Given the description of an element on the screen output the (x, y) to click on. 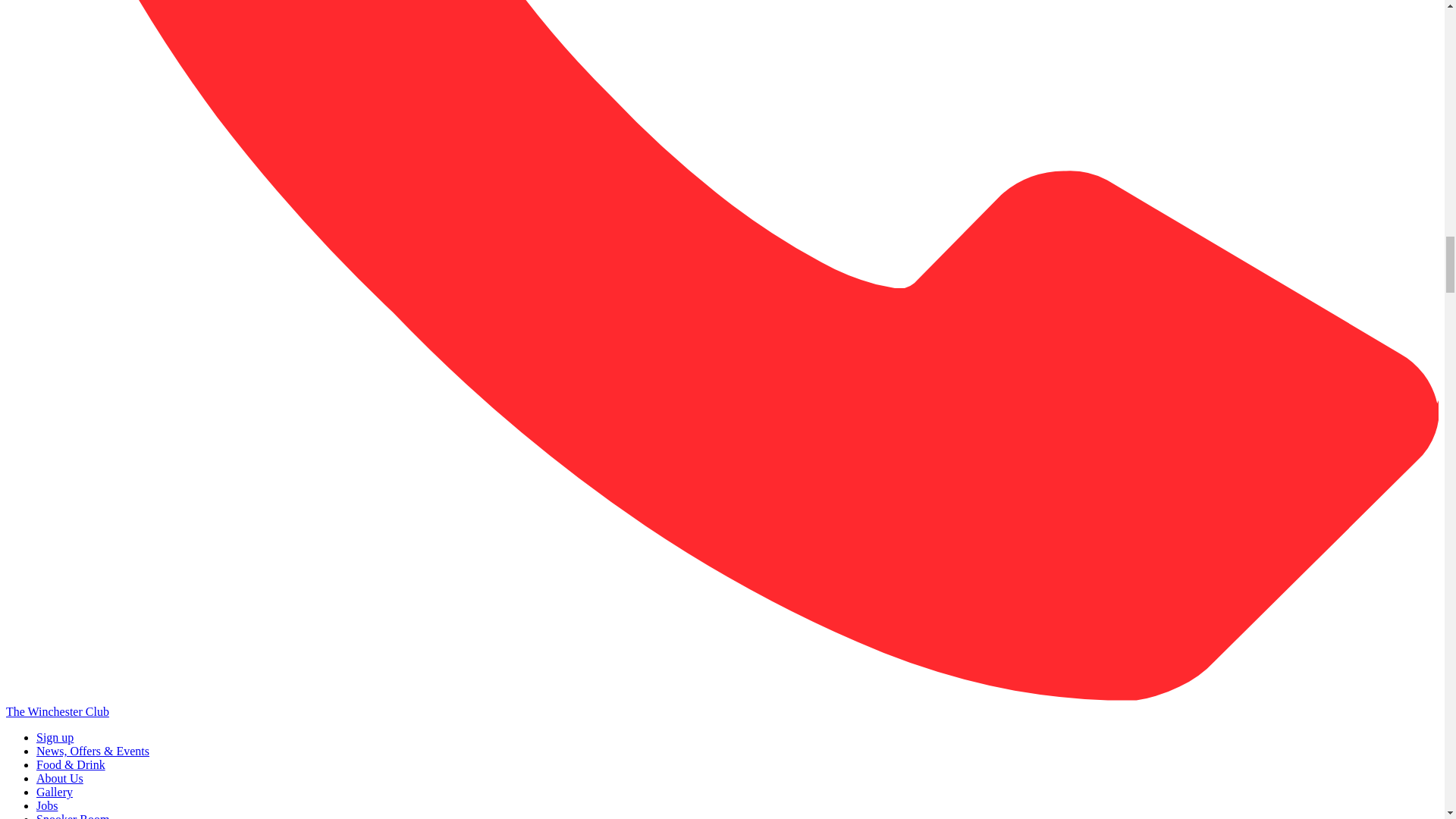
Jobs (47, 805)
The Winchester Club (57, 711)
Sign up (55, 737)
Gallery (54, 791)
About Us (59, 778)
Snooker Room (72, 816)
